Given the description of an element on the screen output the (x, y) to click on. 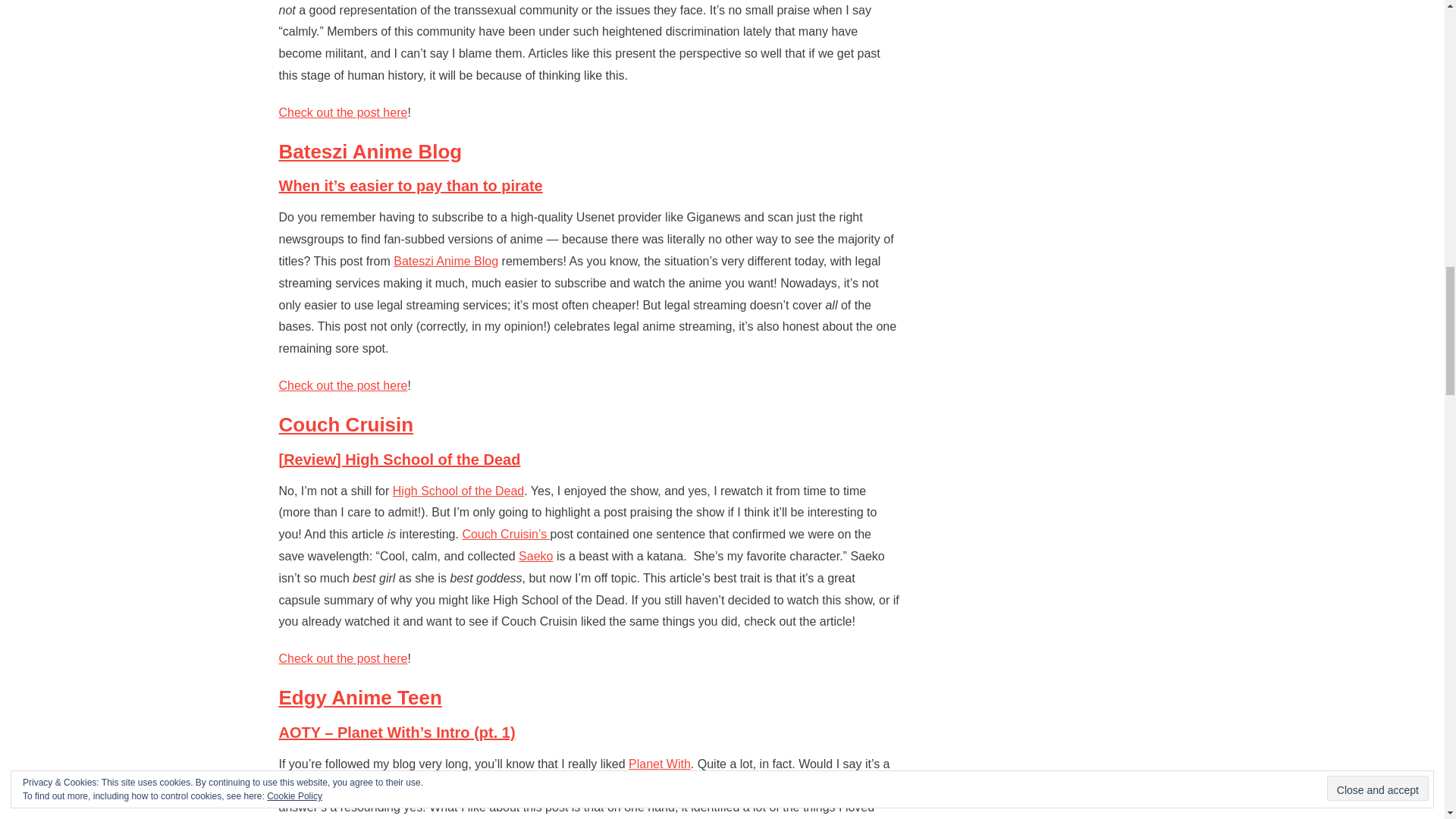
Bateszi Anime Blog (445, 260)
Bateszi Anime Blog (371, 151)
Check out the post here (343, 385)
Check out the post here (343, 112)
Couch Cruisin (346, 424)
